Given the description of an element on the screen output the (x, y) to click on. 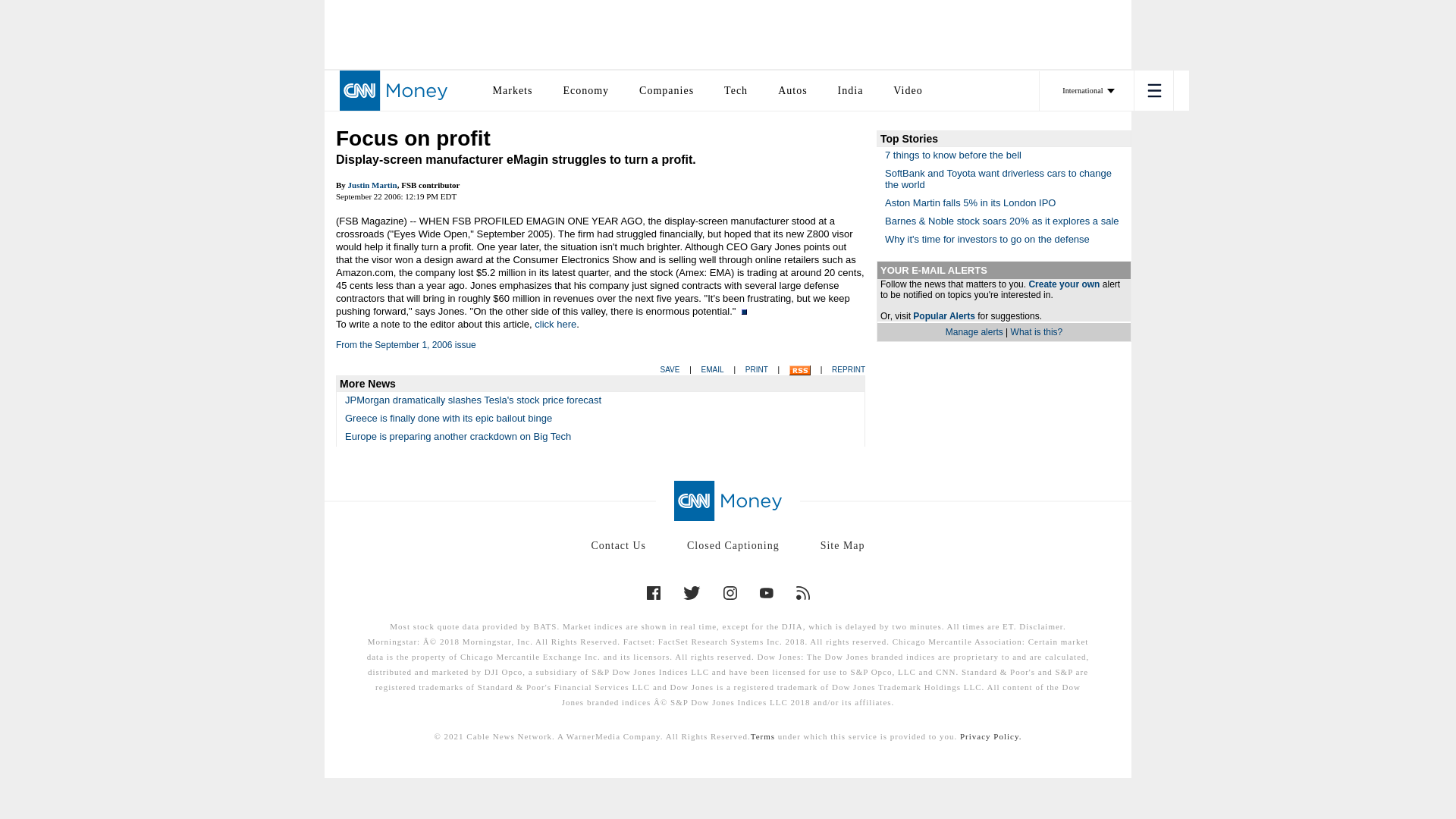
Autos (791, 89)
Video (907, 89)
Tech (735, 89)
Companies (666, 89)
Economy (585, 89)
India (850, 89)
Markets (512, 89)
